Given the description of an element on the screen output the (x, y) to click on. 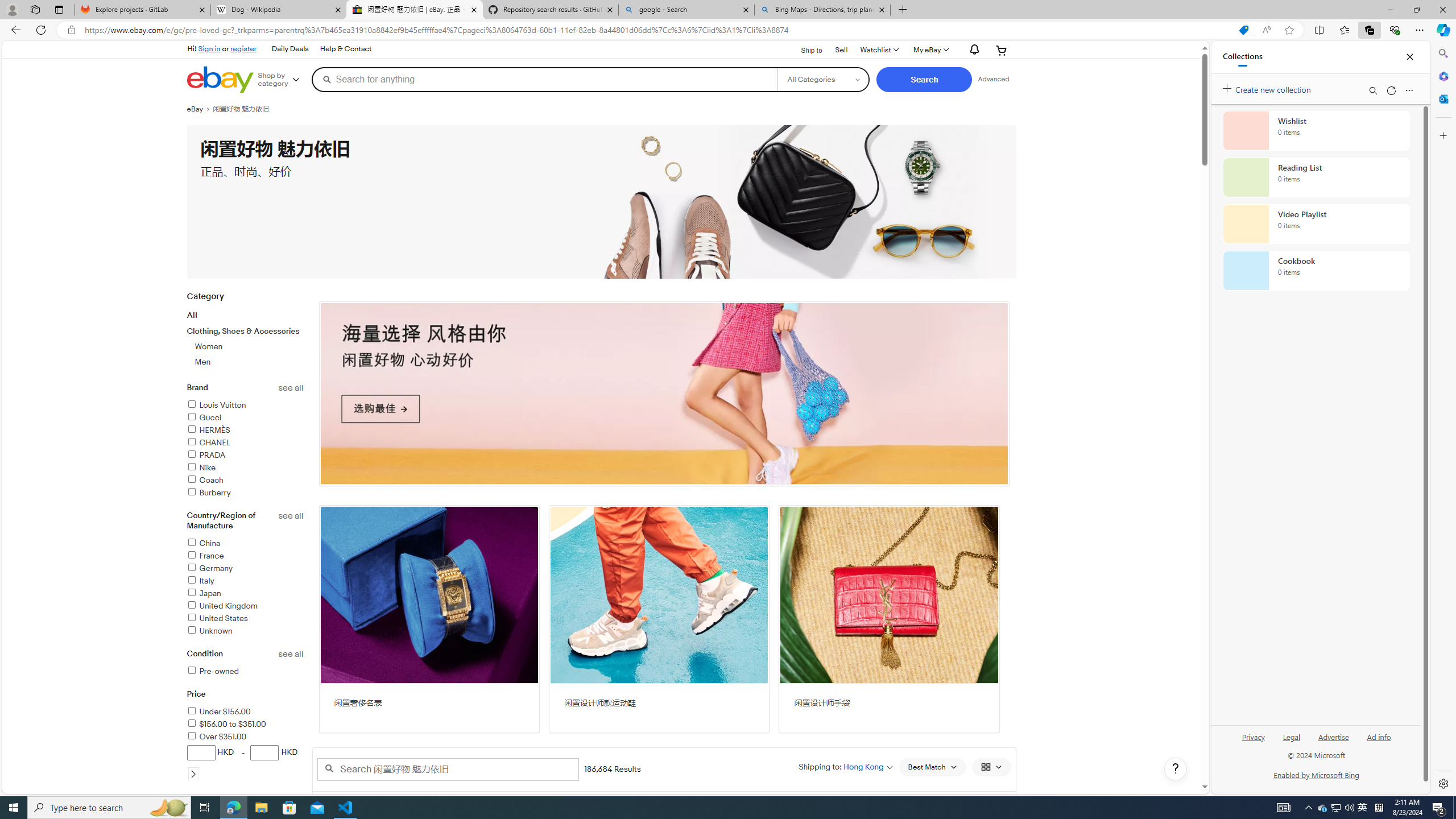
Coach (205, 479)
243 (663, 393)
Men (249, 361)
Germany (209, 568)
Japan (203, 593)
Search for anything (544, 78)
PRADA (245, 455)
